Given the description of an element on the screen output the (x, y) to click on. 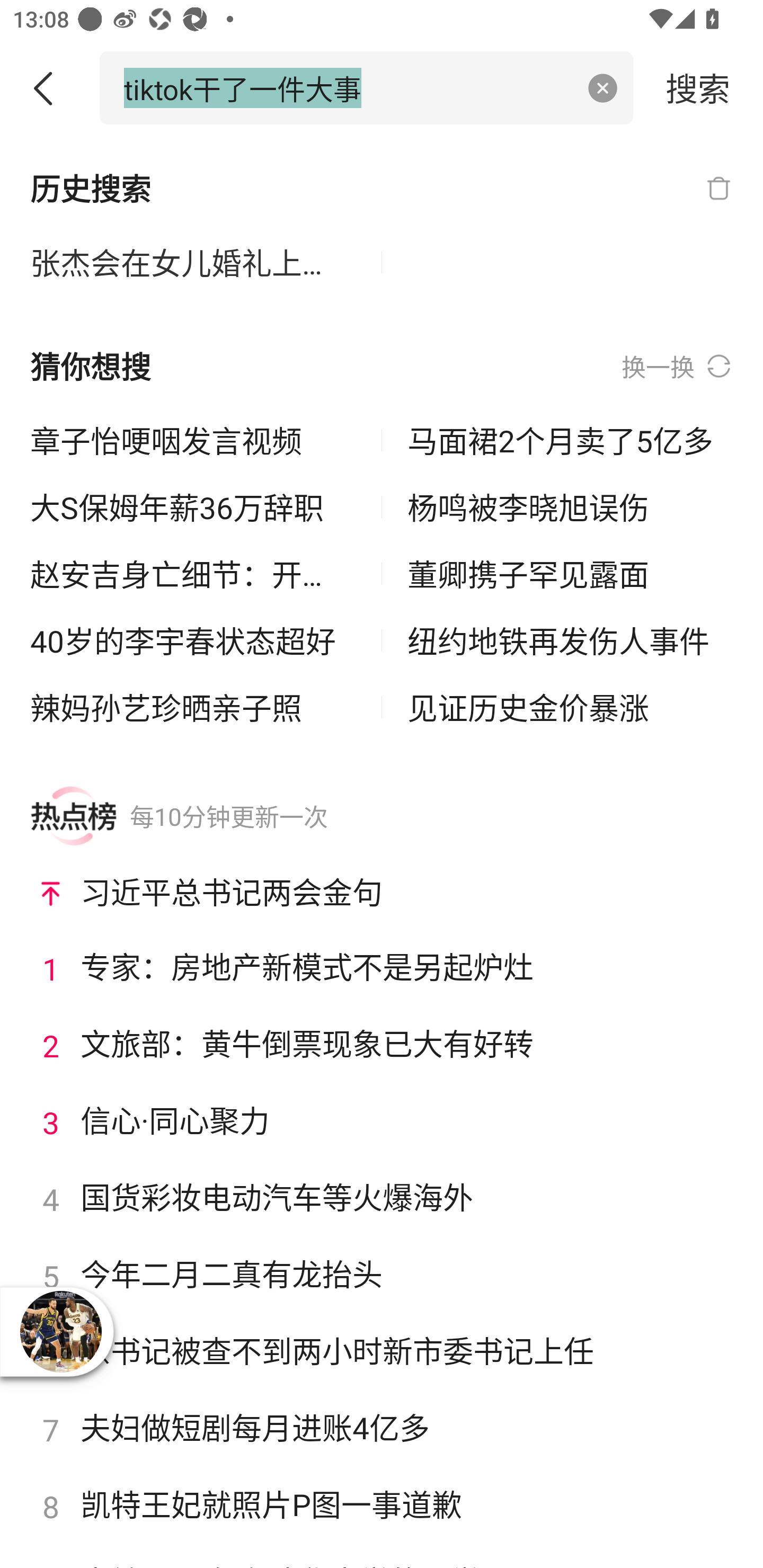
返回 (49, 87)
搜索 (698, 87)
tiktok干了一件大事 (347, 87)
清空 (602, 88)
张杰会在女儿婚礼上唱三生三世 (193, 262)
换一换 (676, 366)
章子怡哽咽发言视频 (193, 439)
马面裙2个月卖了5亿多 (569, 439)
大S保姆年薪36万辞职 (193, 506)
杨鸣被李晓旭误伤 (569, 506)
赵安吉身亡细节：开特斯拉操作失误 (193, 573)
董卿携子罕见露面 (569, 573)
40岁的李宇春状态超好 (193, 640)
纽约地铁再发伤人事件 (569, 640)
辣妈孙艺珍晒亲子照 (193, 707)
见证历史金价暴涨 (569, 707)
播放器 (60, 1331)
